Given the description of an element on the screen output the (x, y) to click on. 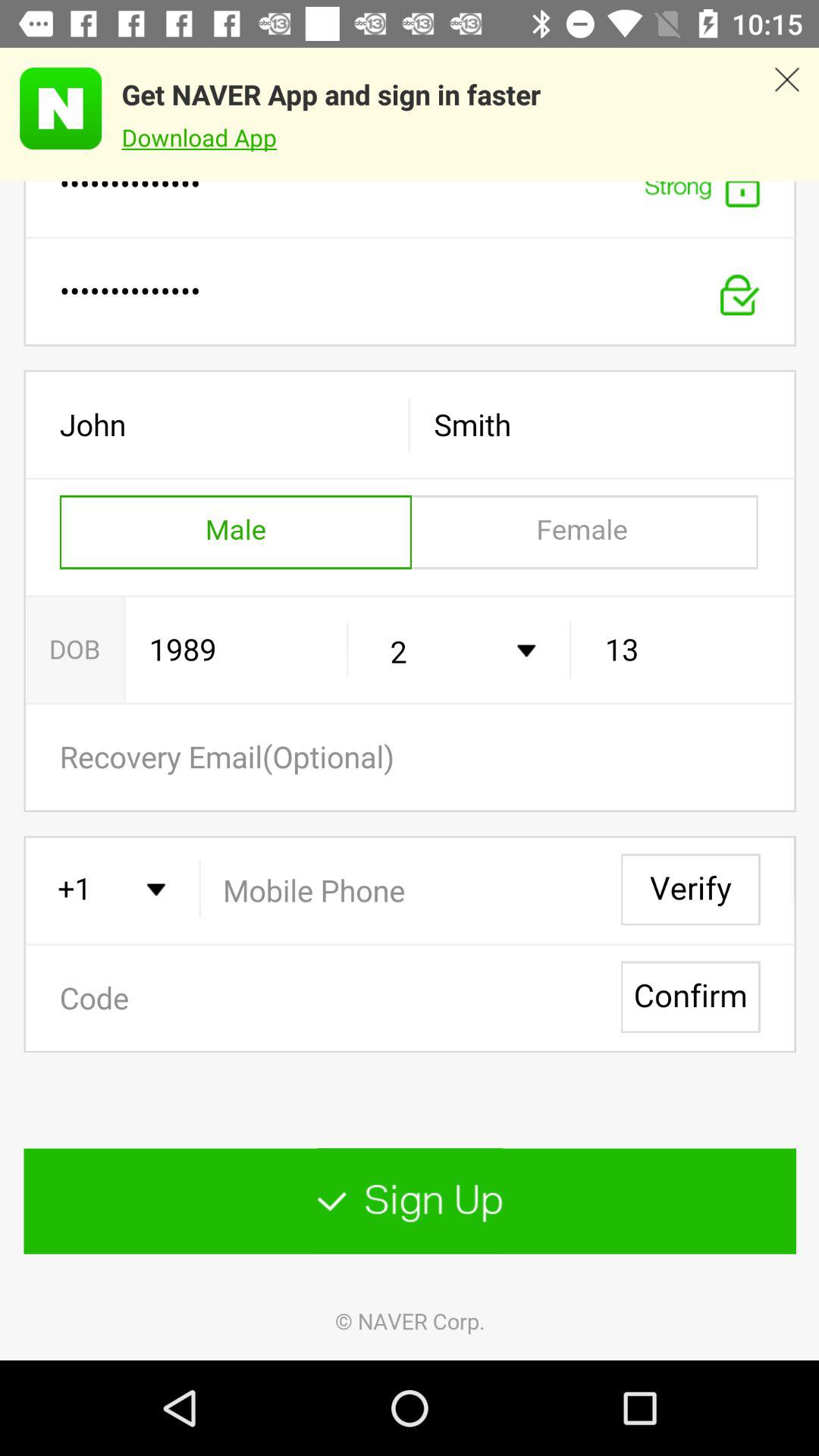
close advertisement (787, 114)
